Given the description of an element on the screen output the (x, y) to click on. 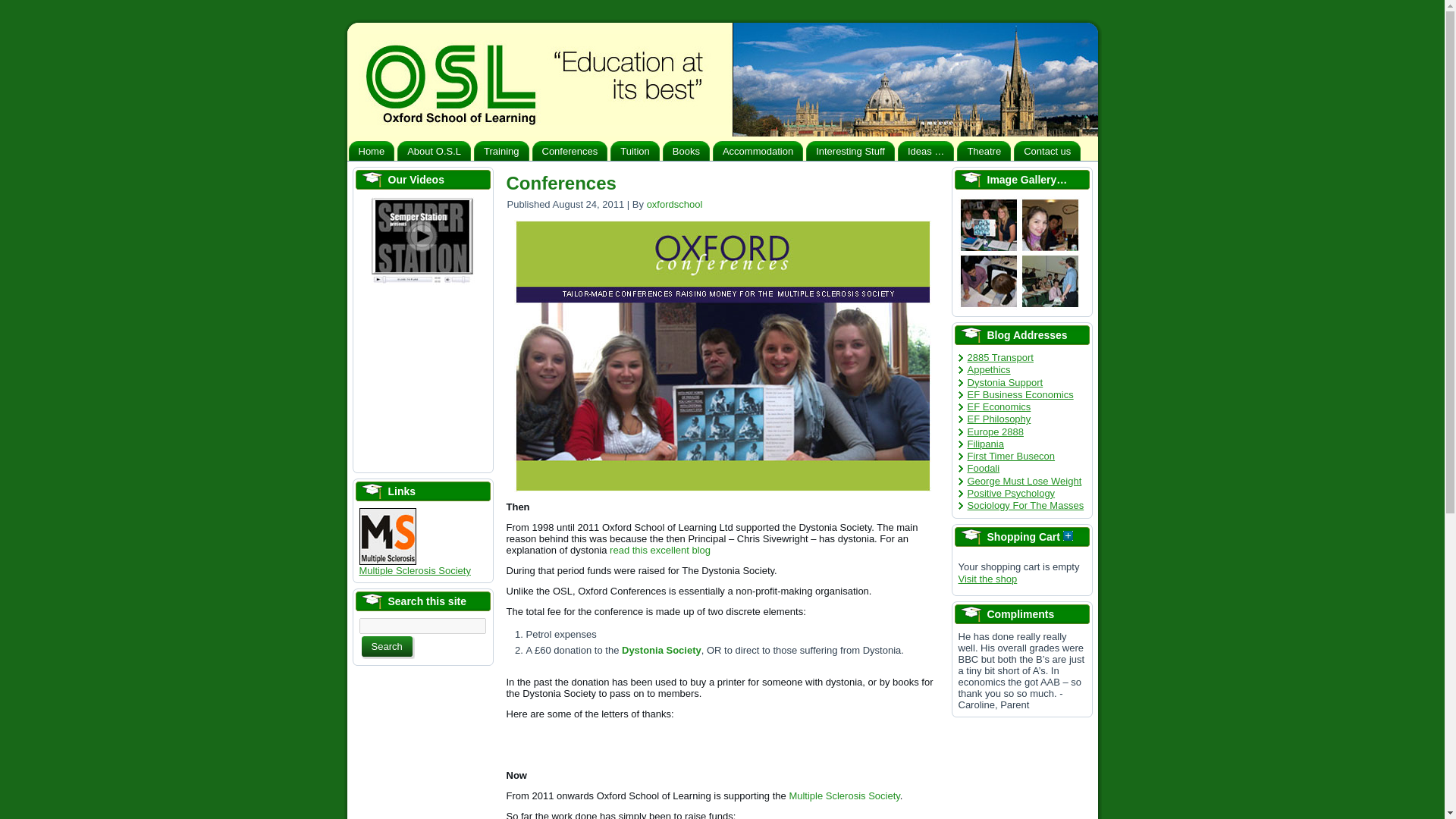
About O.S.L (433, 150)
Theatre (983, 150)
Interesting Stuff (850, 150)
Training (501, 150)
Home (371, 150)
Training (501, 150)
Home (371, 150)
Conferences (570, 150)
Books (686, 150)
Search (386, 646)
Conferences (570, 150)
Tuition (634, 150)
About O.S.L (433, 150)
Accommodation (758, 150)
